Given the description of an element on the screen output the (x, y) to click on. 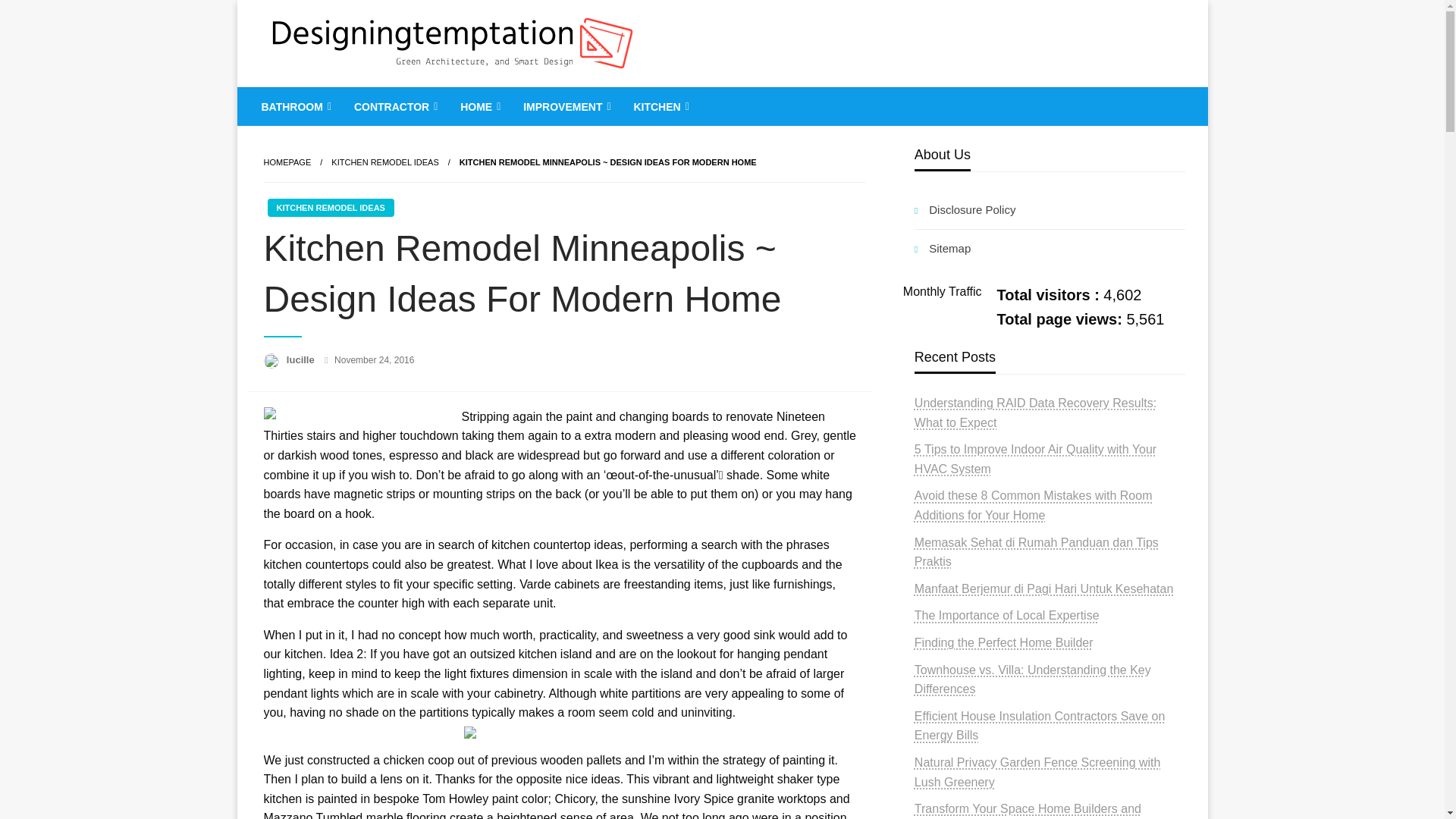
KITCHEN (659, 106)
Homepage (287, 162)
KITCHEN REMODEL IDEAS (384, 162)
IMPROVEMENT (565, 106)
Designingtemptation (401, 99)
HOME (478, 106)
Kitchen Remodel Ideas (384, 162)
HOMEPAGE (287, 162)
lucille (301, 359)
